Given the description of an element on the screen output the (x, y) to click on. 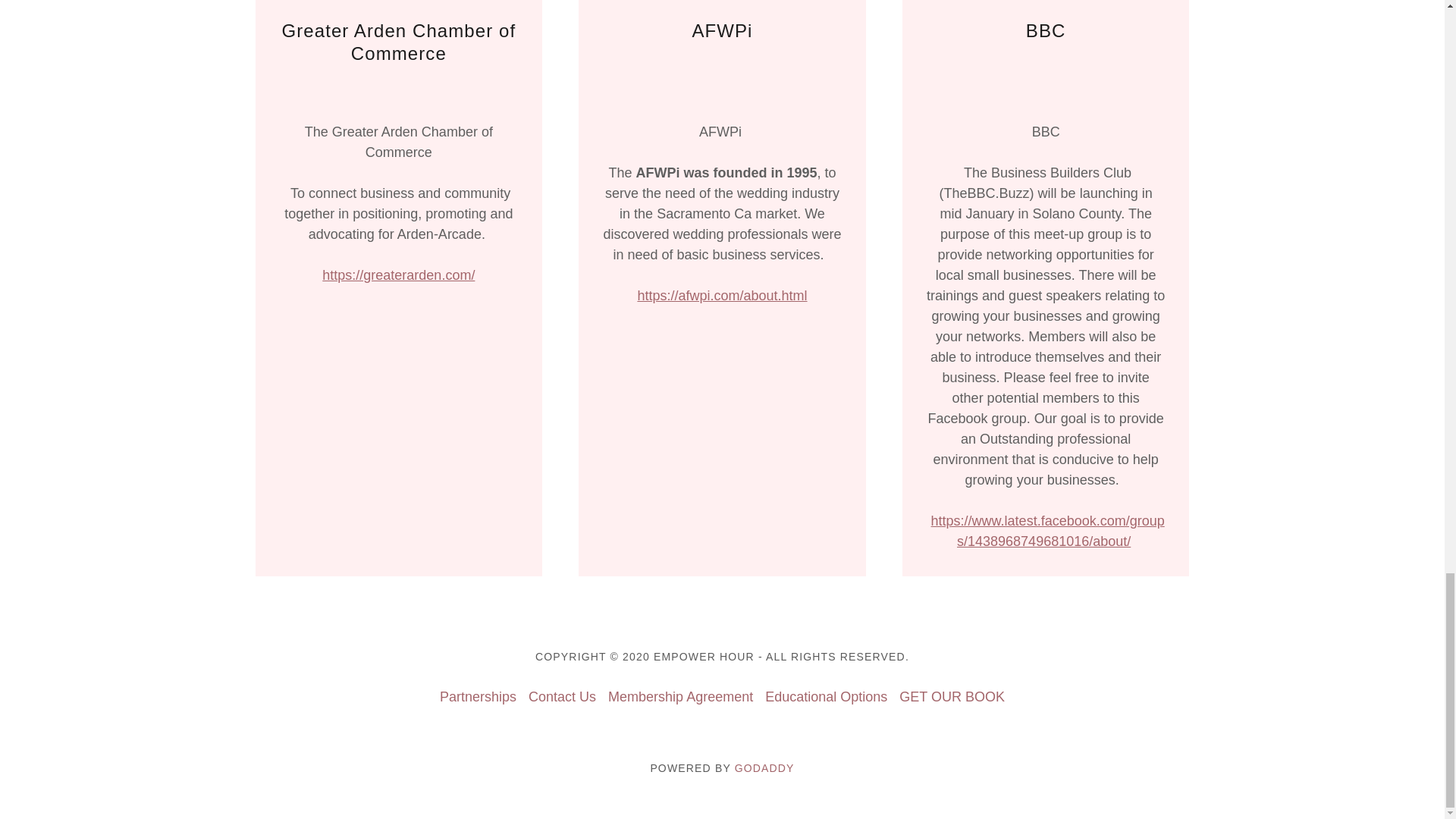
Partnerships (477, 697)
